Given the description of an element on the screen output the (x, y) to click on. 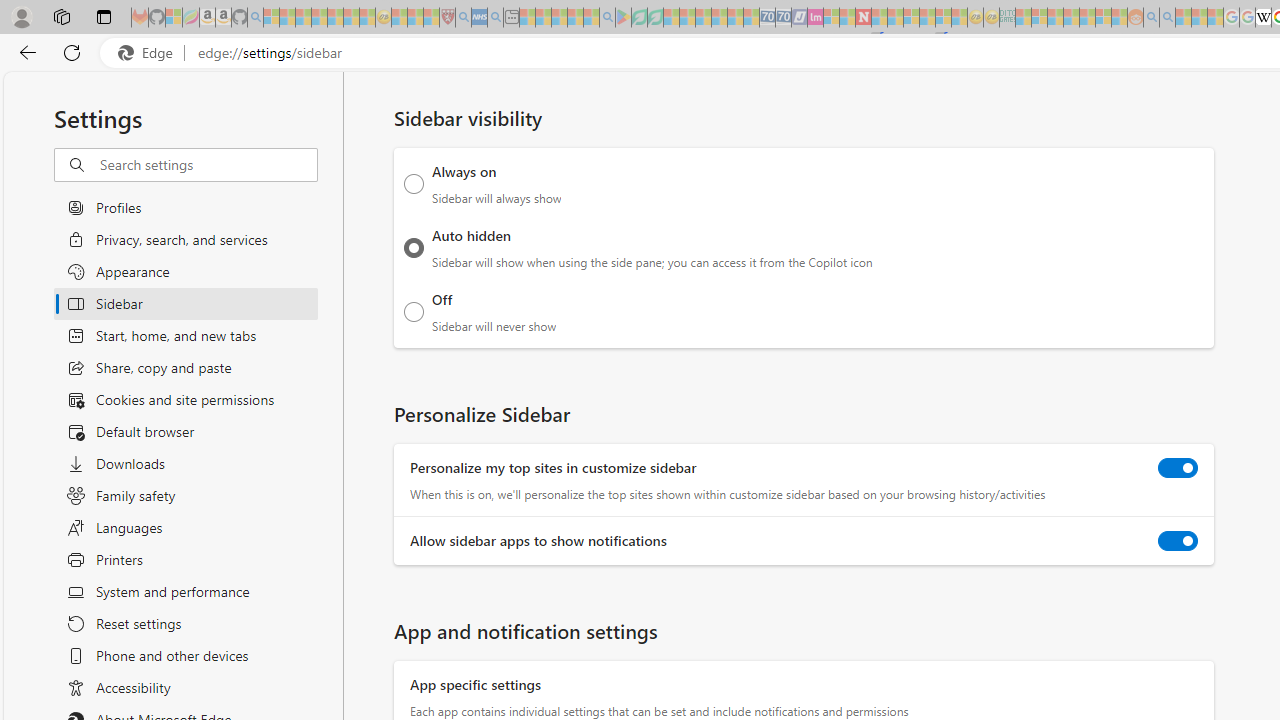
MSNBC - MSN - Sleeping (1023, 17)
Off Sidebar will never show (413, 311)
